Given the description of an element on the screen output the (x, y) to click on. 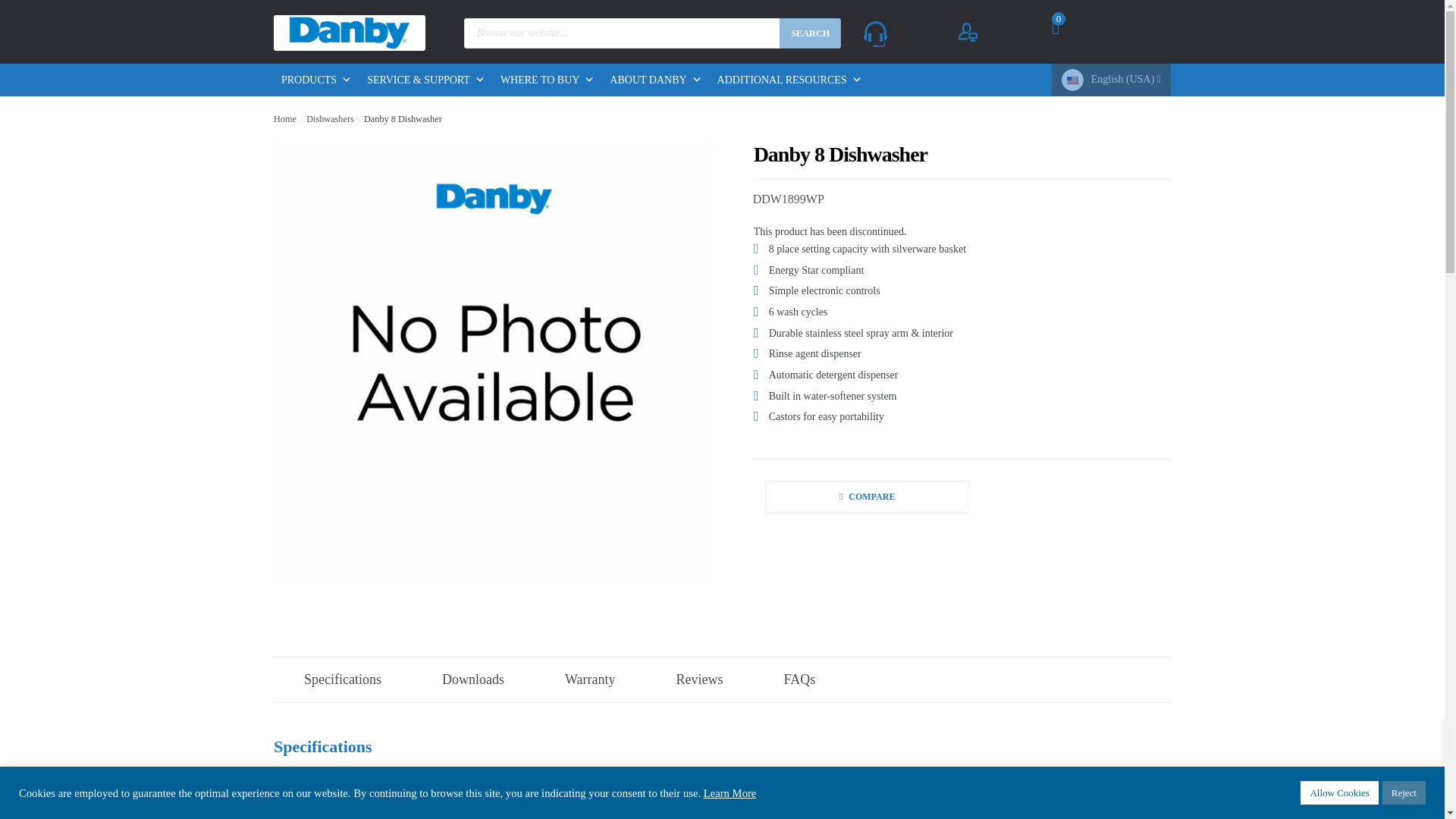
Need Help? (904, 33)
PRODUCTS (316, 79)
My Account (998, 31)
SEARCH (809, 33)
